Given the description of an element on the screen output the (x, y) to click on. 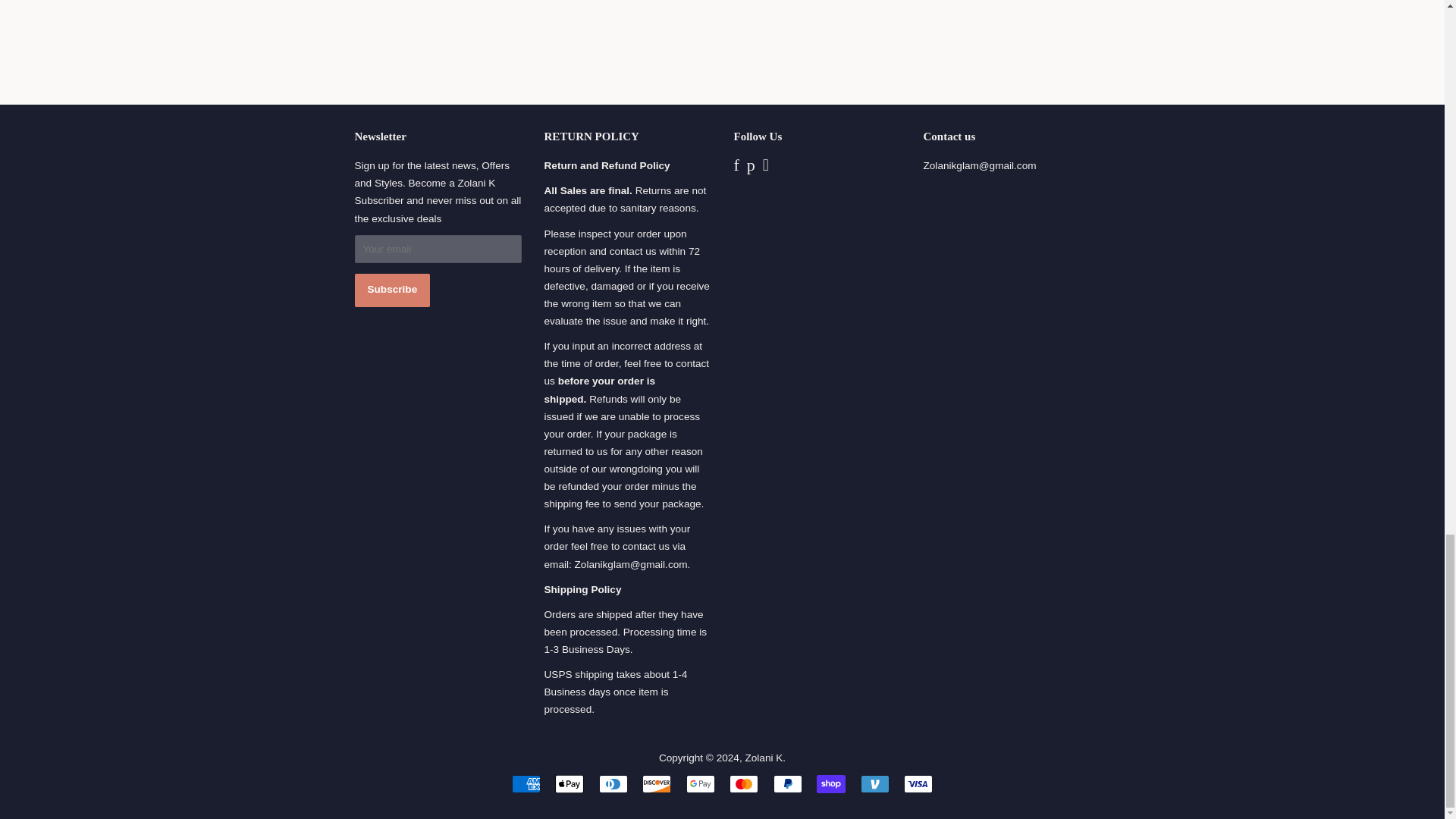
Venmo (874, 783)
Google Pay (699, 783)
Mastercard (743, 783)
PayPal (787, 783)
Diners Club (612, 783)
Zolani K (763, 757)
Visa (918, 783)
Subscribe (392, 290)
Discover (656, 783)
Subscribe (392, 290)
